Given the description of an element on the screen output the (x, y) to click on. 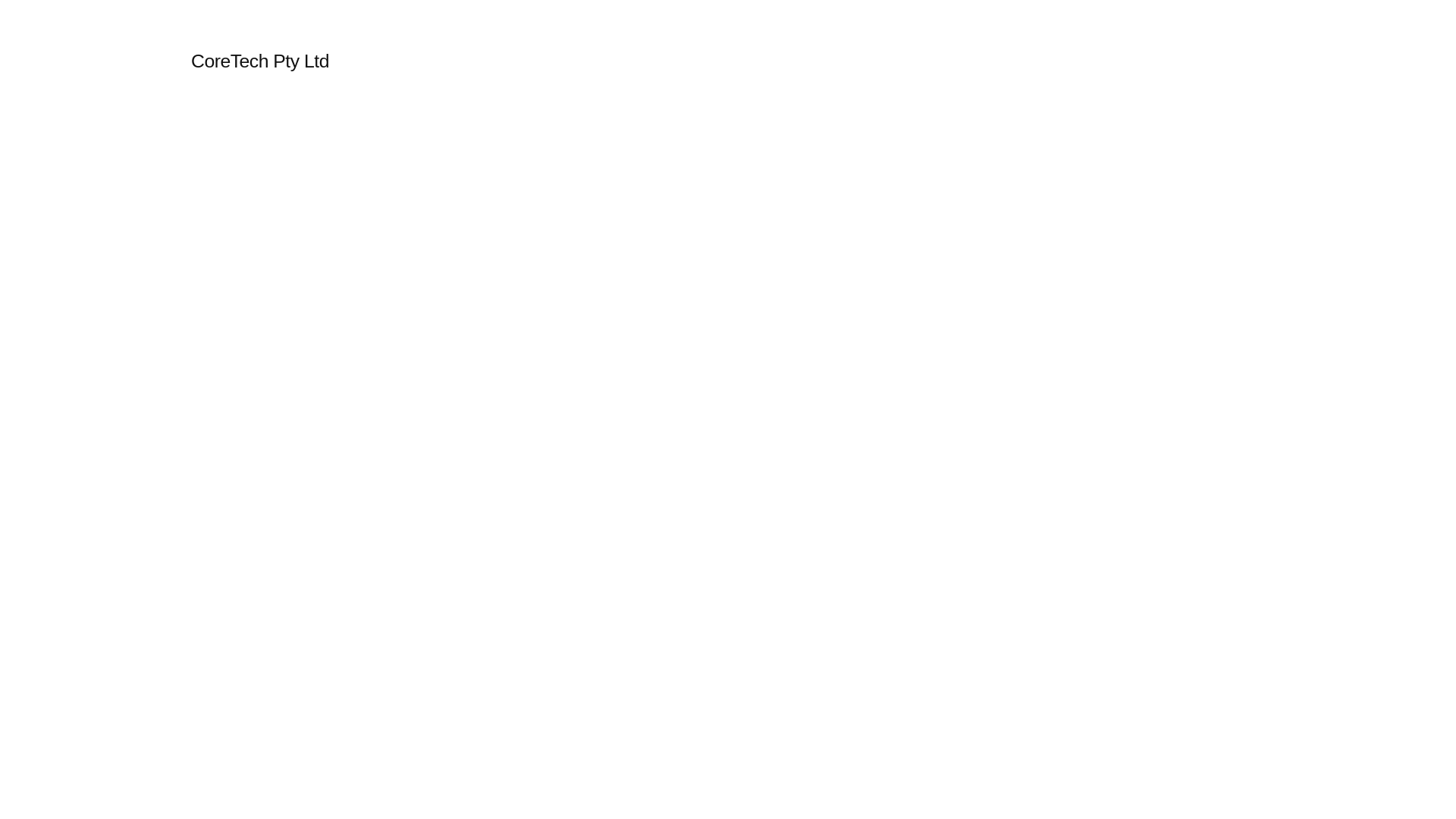
CoreTech Pty Ltd Element type: text (260, 60)
